Given the description of an element on the screen output the (x, y) to click on. 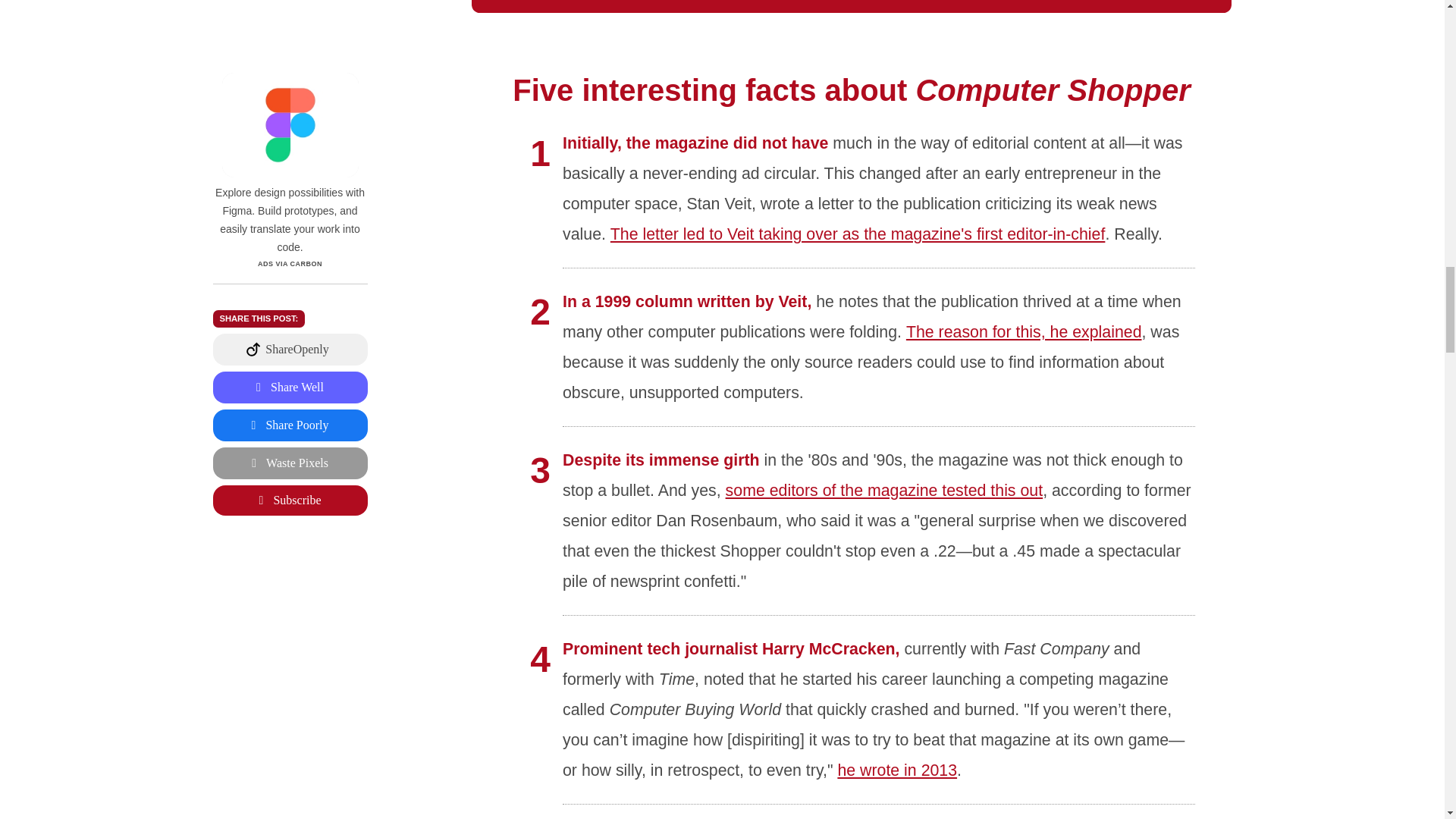
he wrote in 2013 (898, 770)
The reason for this, he explained (1023, 331)
some editors of the magazine tested this out (884, 490)
